Given the description of an element on the screen output the (x, y) to click on. 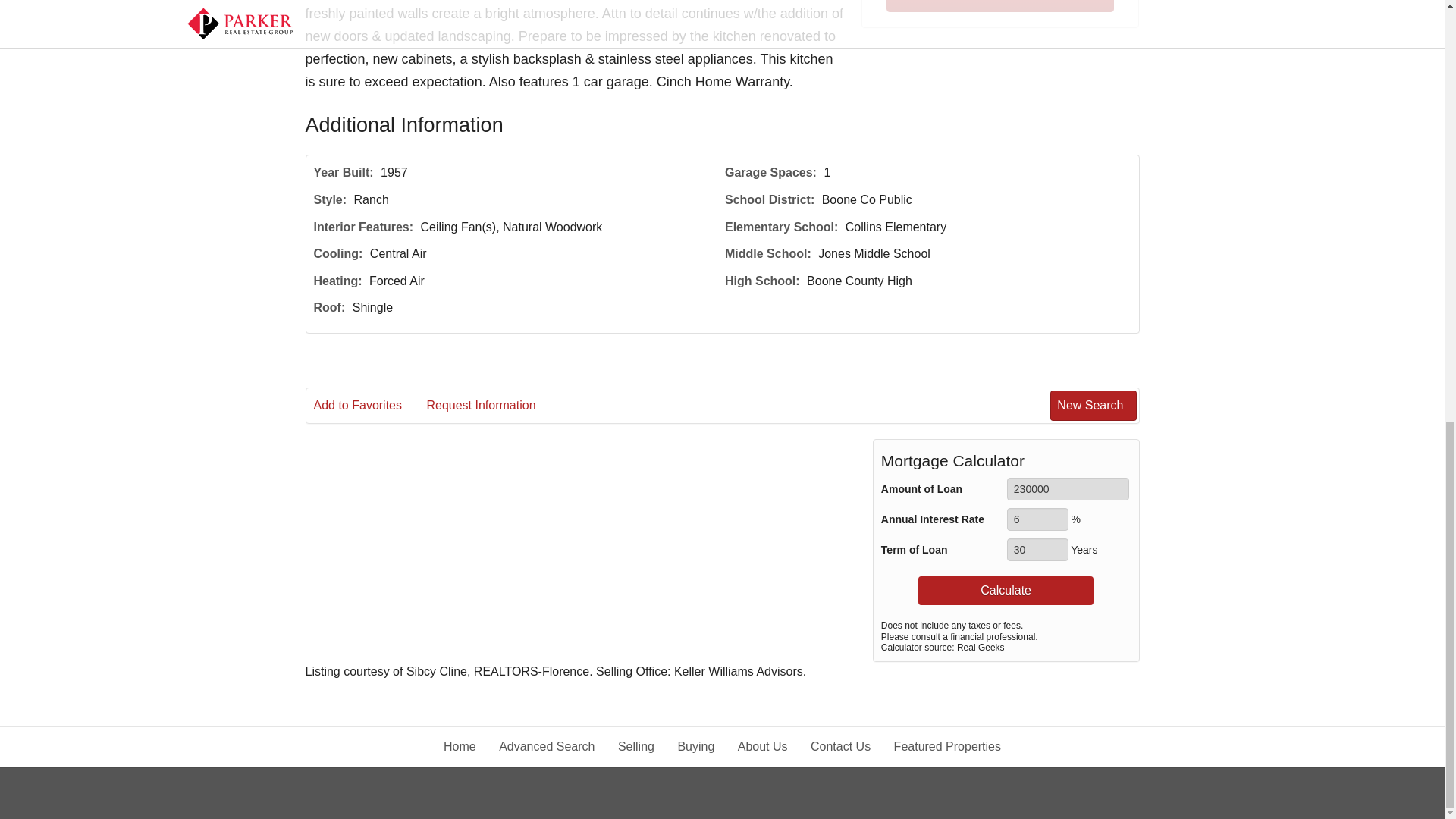
30 (1037, 549)
6 (1037, 518)
230000 (1068, 488)
Contact Us (999, 6)
